Given the description of an element on the screen output the (x, y) to click on. 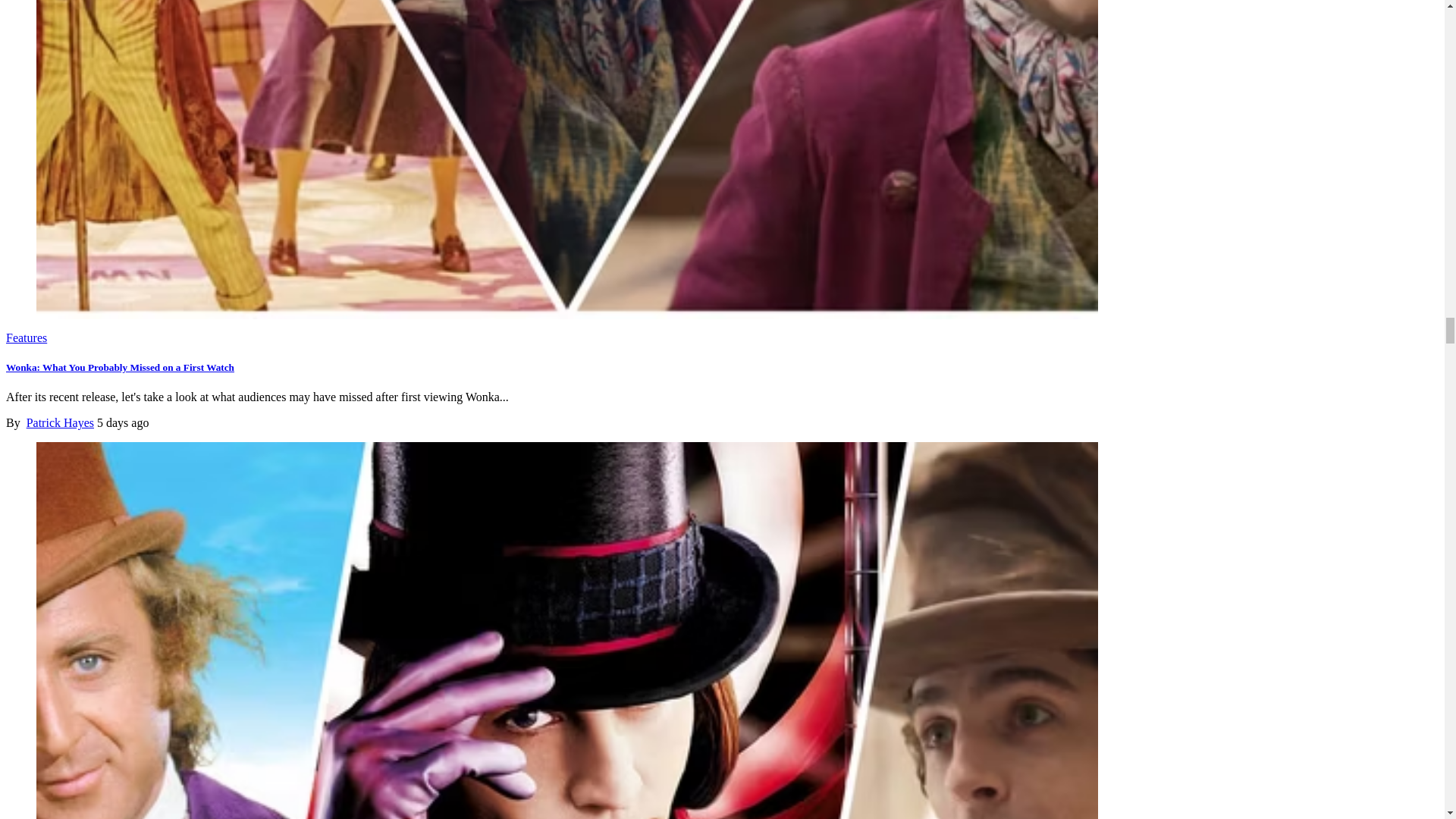
Posts by Patrick Hayes (60, 422)
